Given the description of an element on the screen output the (x, y) to click on. 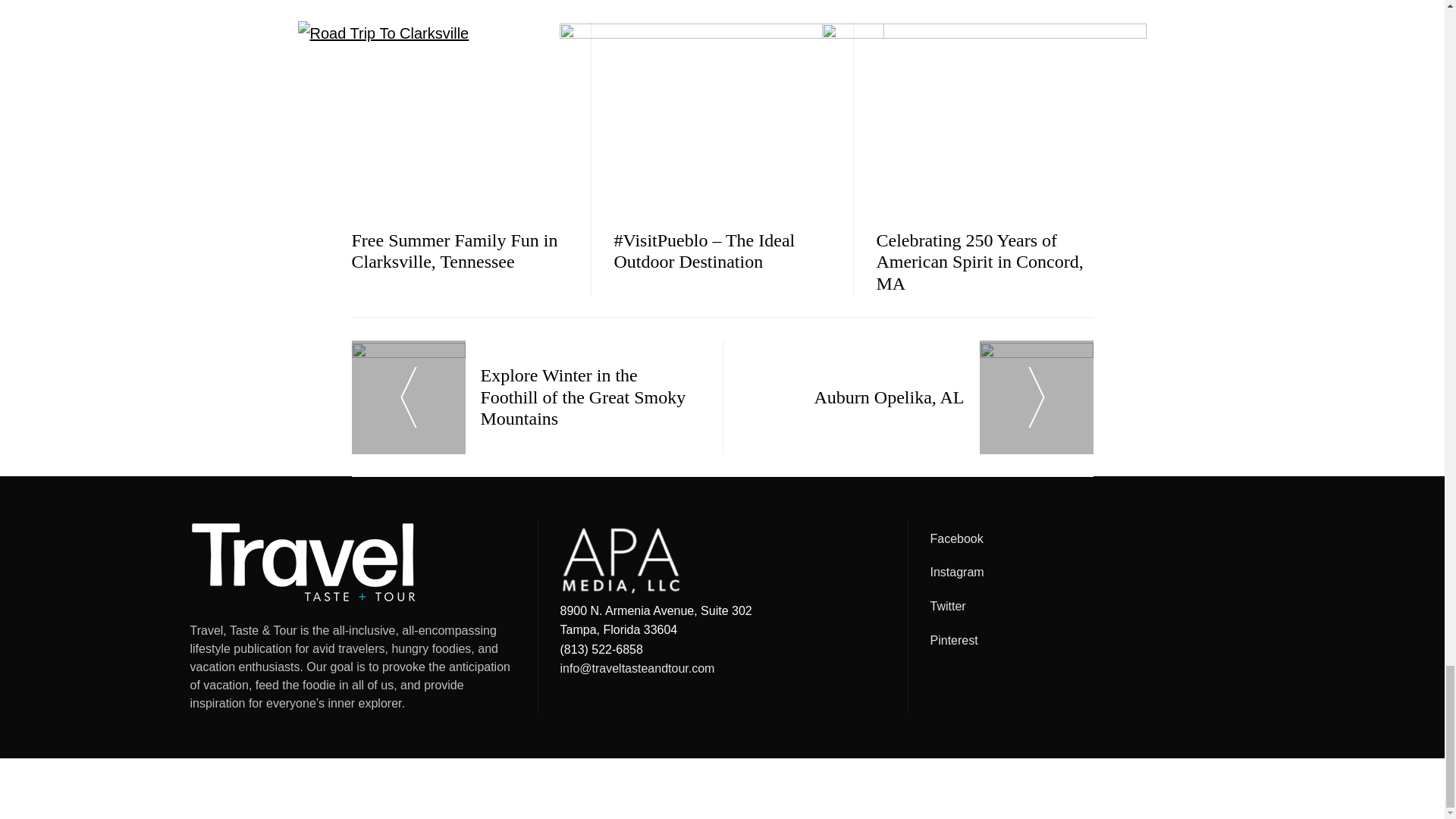
Free Summer Family Fun in Clarksville, Tennessee (454, 250)
Auburn Opelika, AL (918, 397)
Instagram (1091, 572)
Facebook (1091, 538)
Explore Winter in the Foothill of the Great Smoky Mountains (526, 397)
Pinterest (1091, 640)
Twitter (1091, 606)
Celebrating 250 Years of American Spirit in Concord, MA (979, 262)
